Given the description of an element on the screen output the (x, y) to click on. 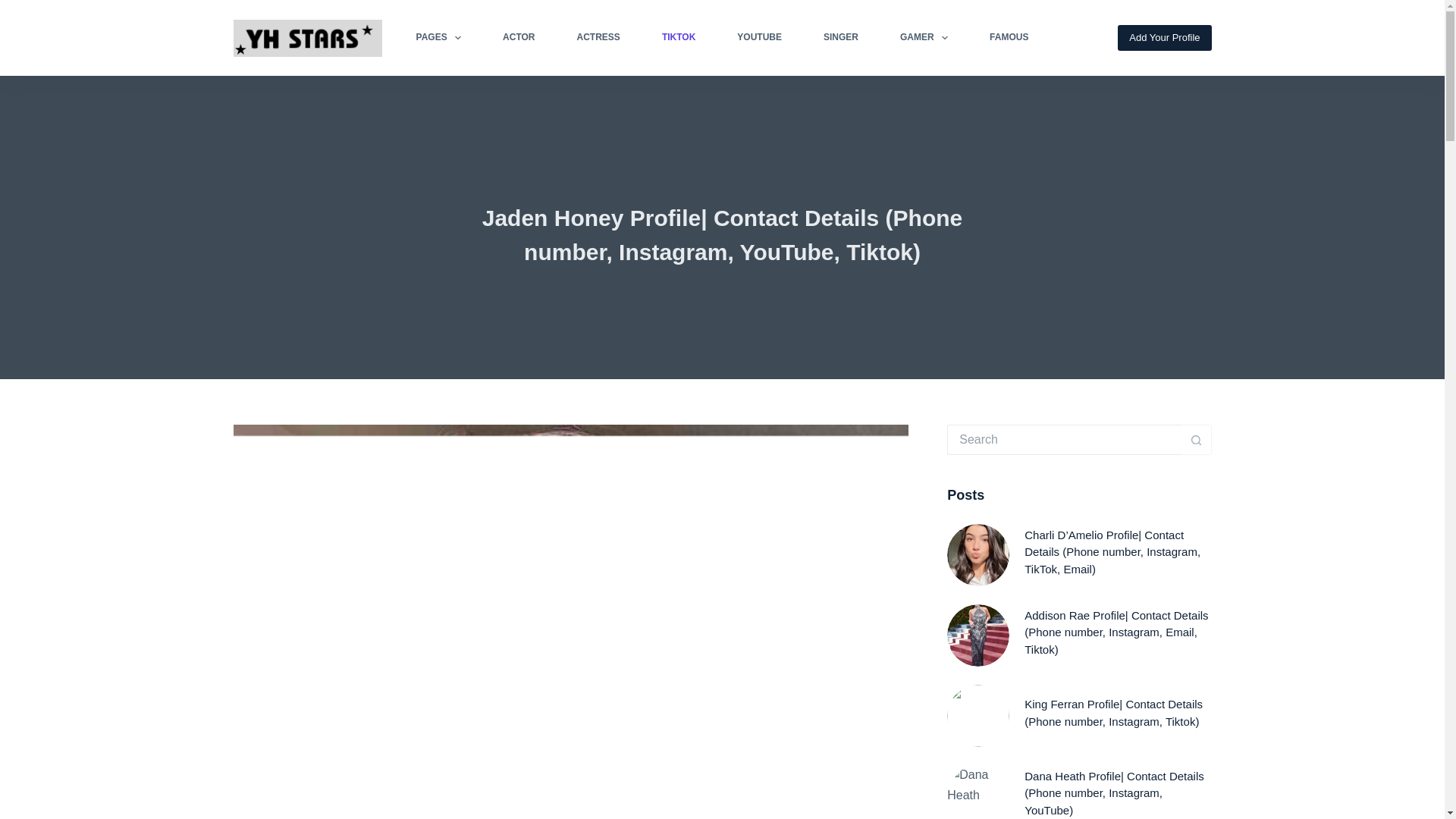
GAMER (924, 38)
ACTRESS (598, 38)
SINGER (840, 38)
Skip to content (15, 7)
TIKTOK (678, 38)
ACTOR (518, 38)
Add Your Profile (1164, 37)
FAMOUS (1009, 38)
Search for... (1063, 440)
PAGES (437, 38)
